Given the description of an element on the screen output the (x, y) to click on. 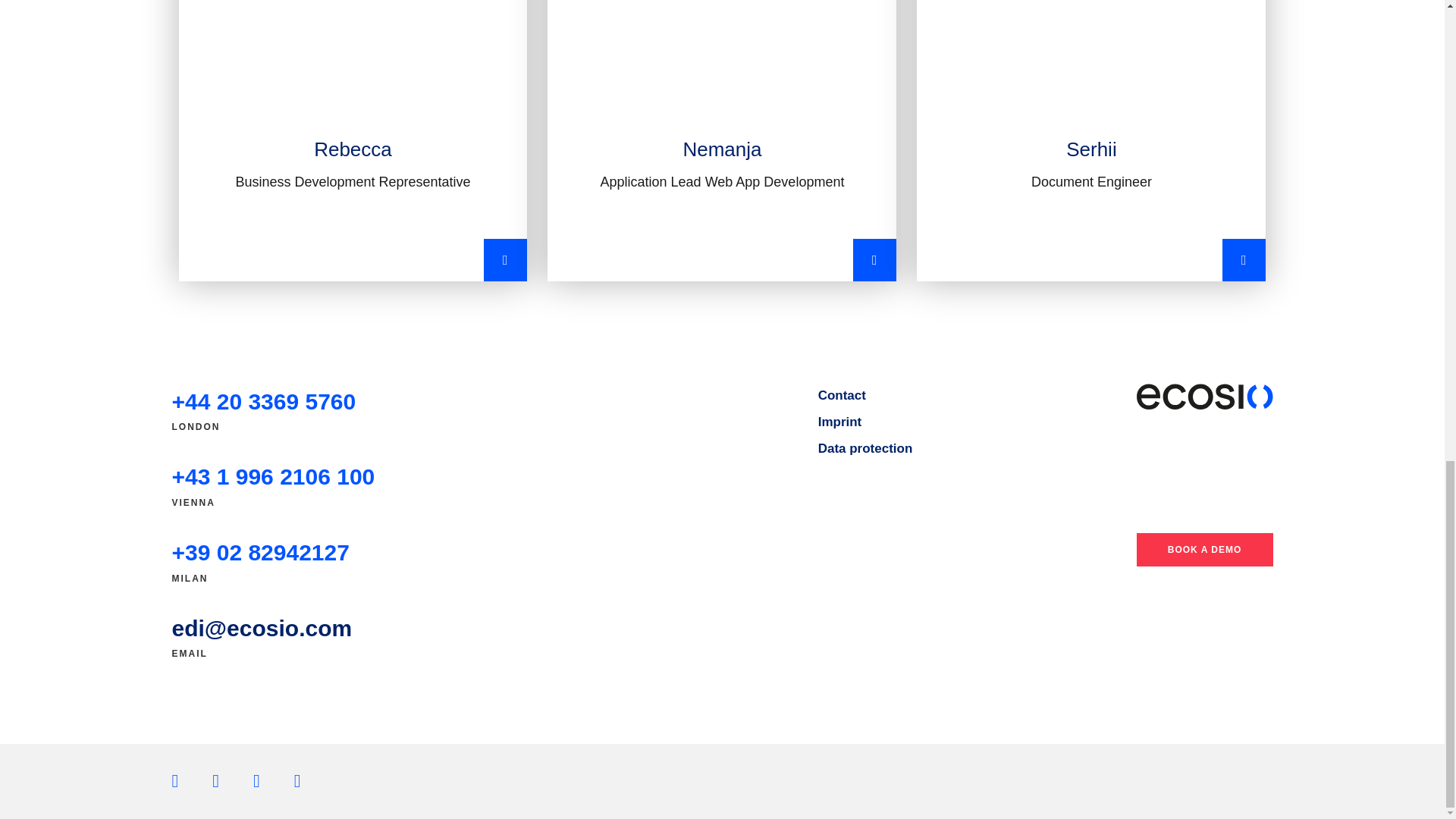
to the home page (1203, 396)
Nemanja (721, 140)
Ecosio LONDON (263, 401)
Ecosio MILAN (260, 552)
Imprint (839, 422)
Rebecca (353, 140)
Data protection (865, 448)
Contact (842, 395)
Ecosio VIENNA (272, 476)
Ecosio EMAIL (261, 628)
